Given the description of an element on the screen output the (x, y) to click on. 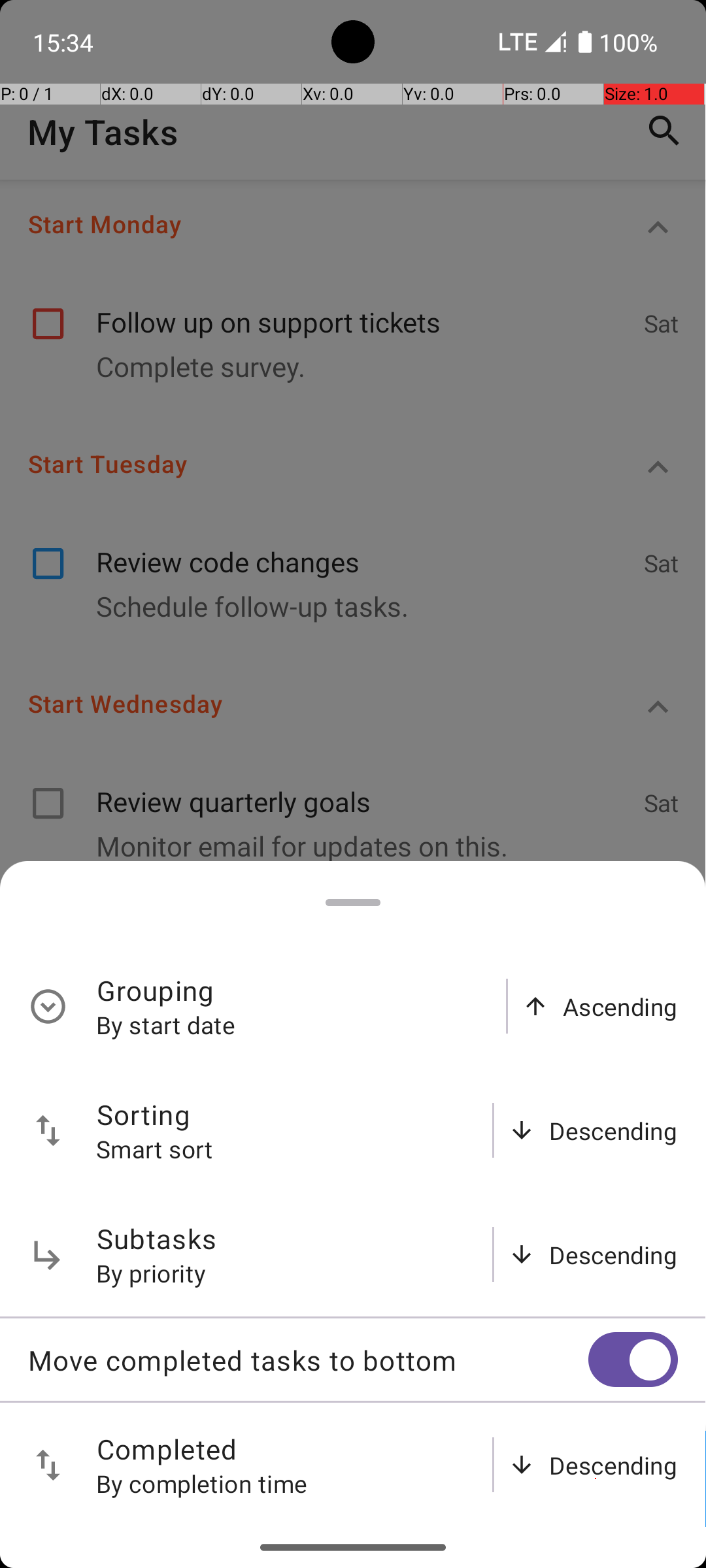
Grouping Element type: android.widget.TextView (155, 989)
By start date Element type: android.widget.TextView (165, 1024)
Sorting Element type: android.widget.TextView (143, 1113)
Smart sort Element type: android.widget.TextView (154, 1148)
By priority Element type: android.widget.TextView (151, 1273)
Move completed tasks to bottom Element type: android.widget.TextView (307, 1359)
Completed Element type: android.widget.TextView (166, 1448)
By completion time Element type: android.widget.TextView (201, 1483)
Ascending Element type: android.widget.TextView (619, 1006)
